Given the description of an element on the screen output the (x, y) to click on. 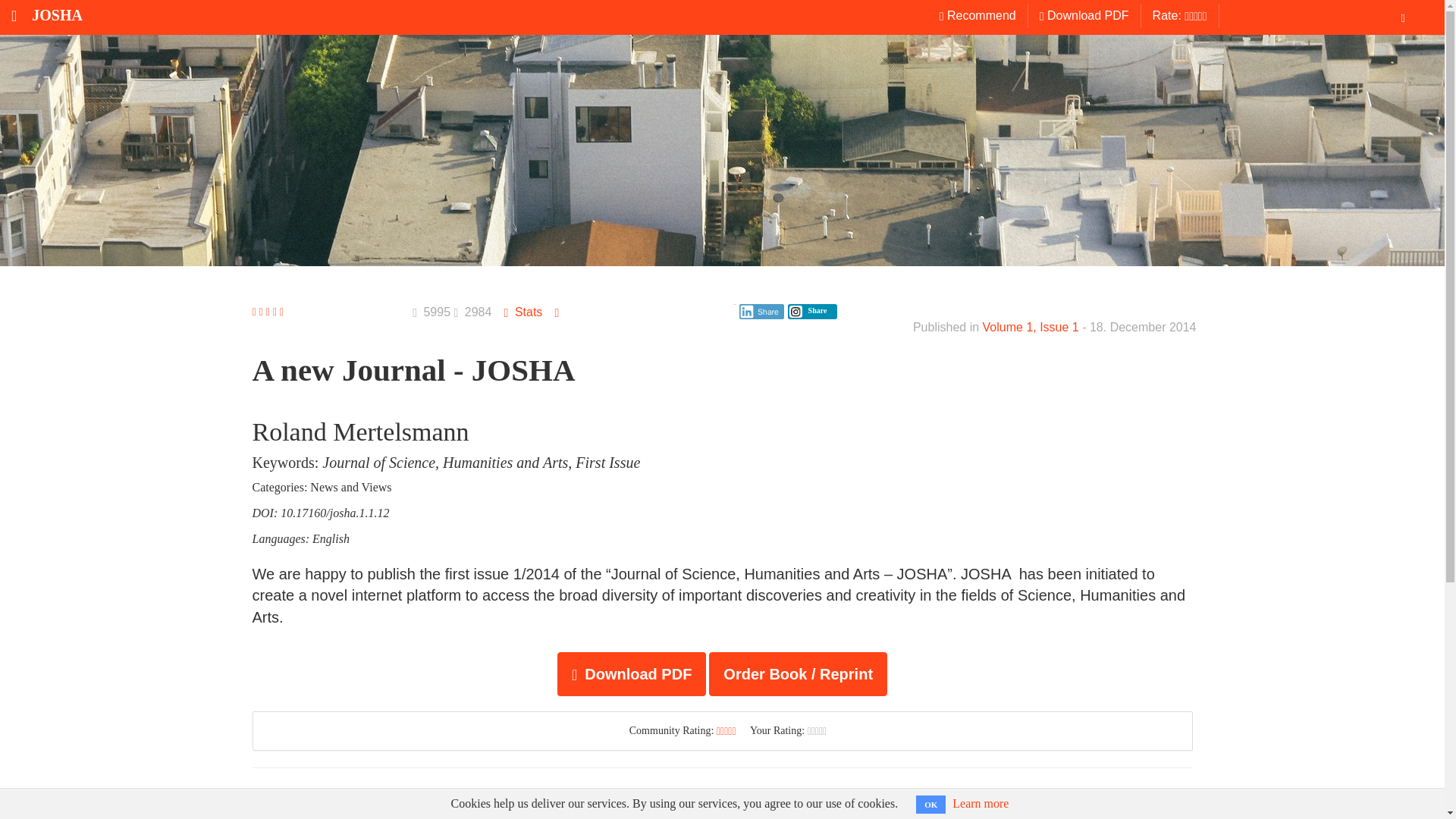
Learn more (980, 802)
Rate: (1179, 15)
Download PDF (631, 673)
Share (808, 310)
OK (929, 804)
Volume 1, Issue 1 (1030, 327)
Share (761, 311)
JOSHA (41, 15)
Recommend (977, 15)
